Given the description of an element on the screen output the (x, y) to click on. 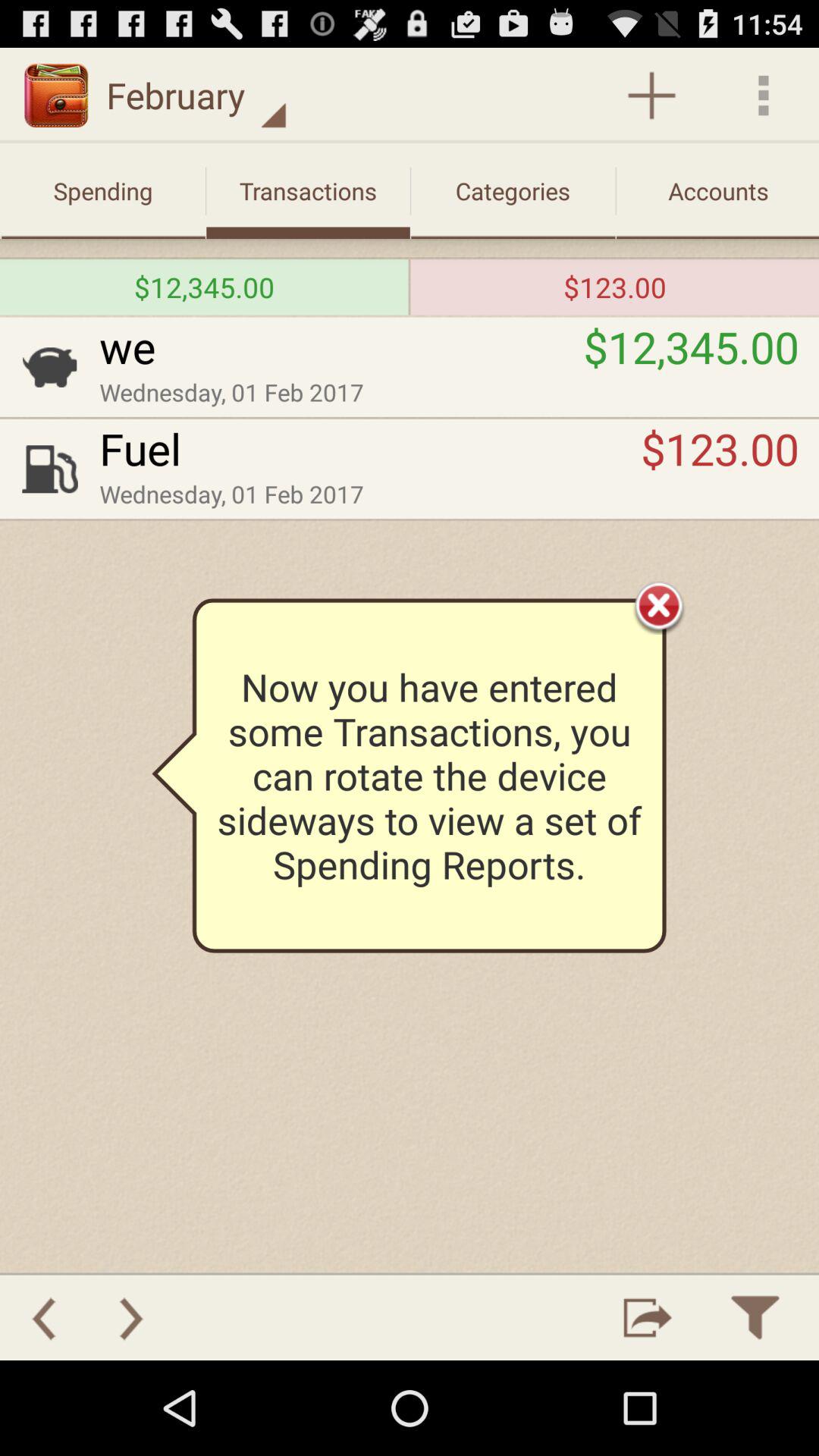
add feature (651, 95)
